Given the description of an element on the screen output the (x, y) to click on. 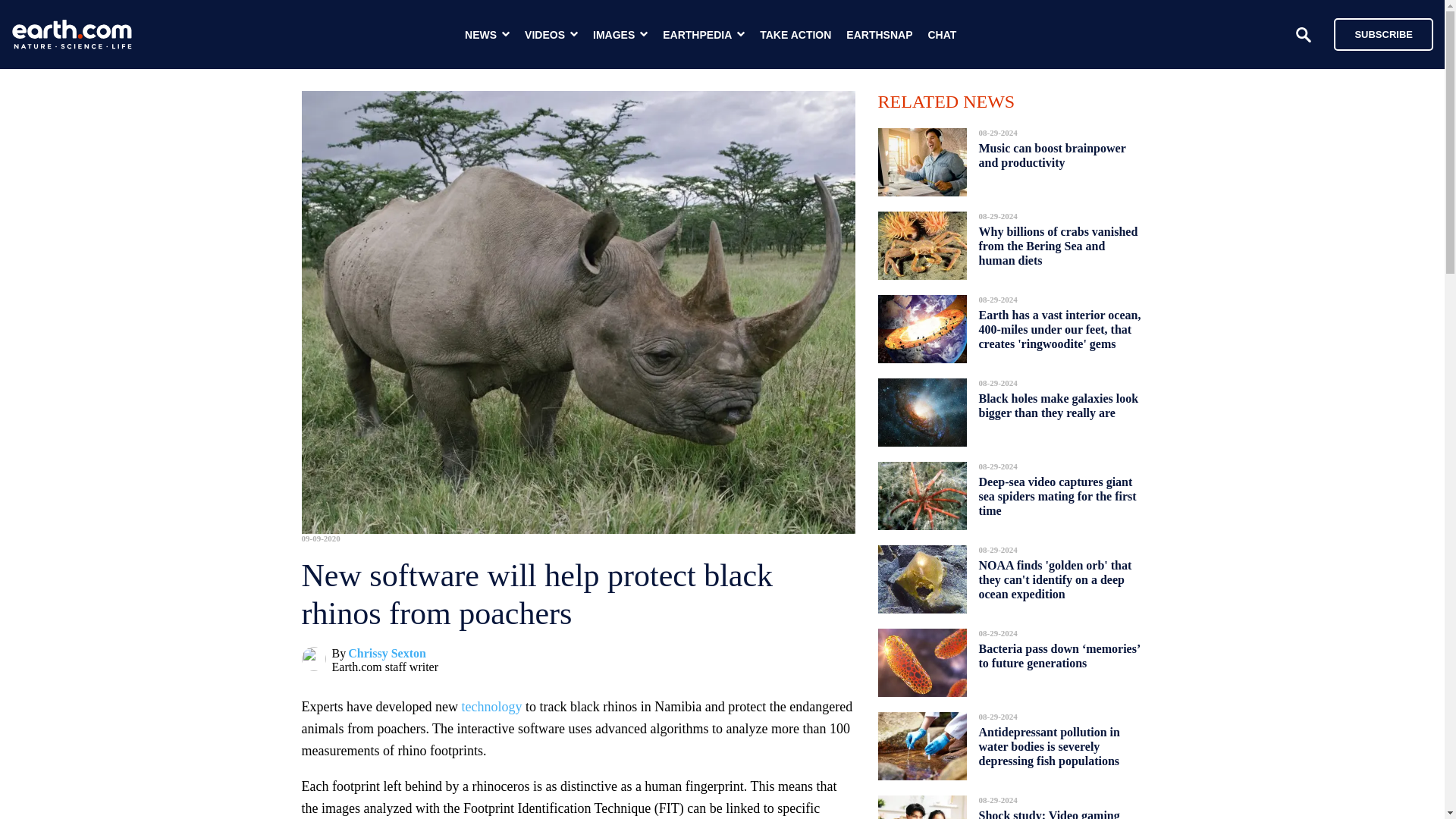
Black holes make galaxies look bigger than they really are (1058, 405)
SUBSCRIBE (1375, 33)
SUBSCRIBE (1382, 34)
CHAT (941, 34)
TAKE ACTION (795, 34)
Chrissy Sexton (386, 653)
technology (491, 706)
